Given the description of an element on the screen output the (x, y) to click on. 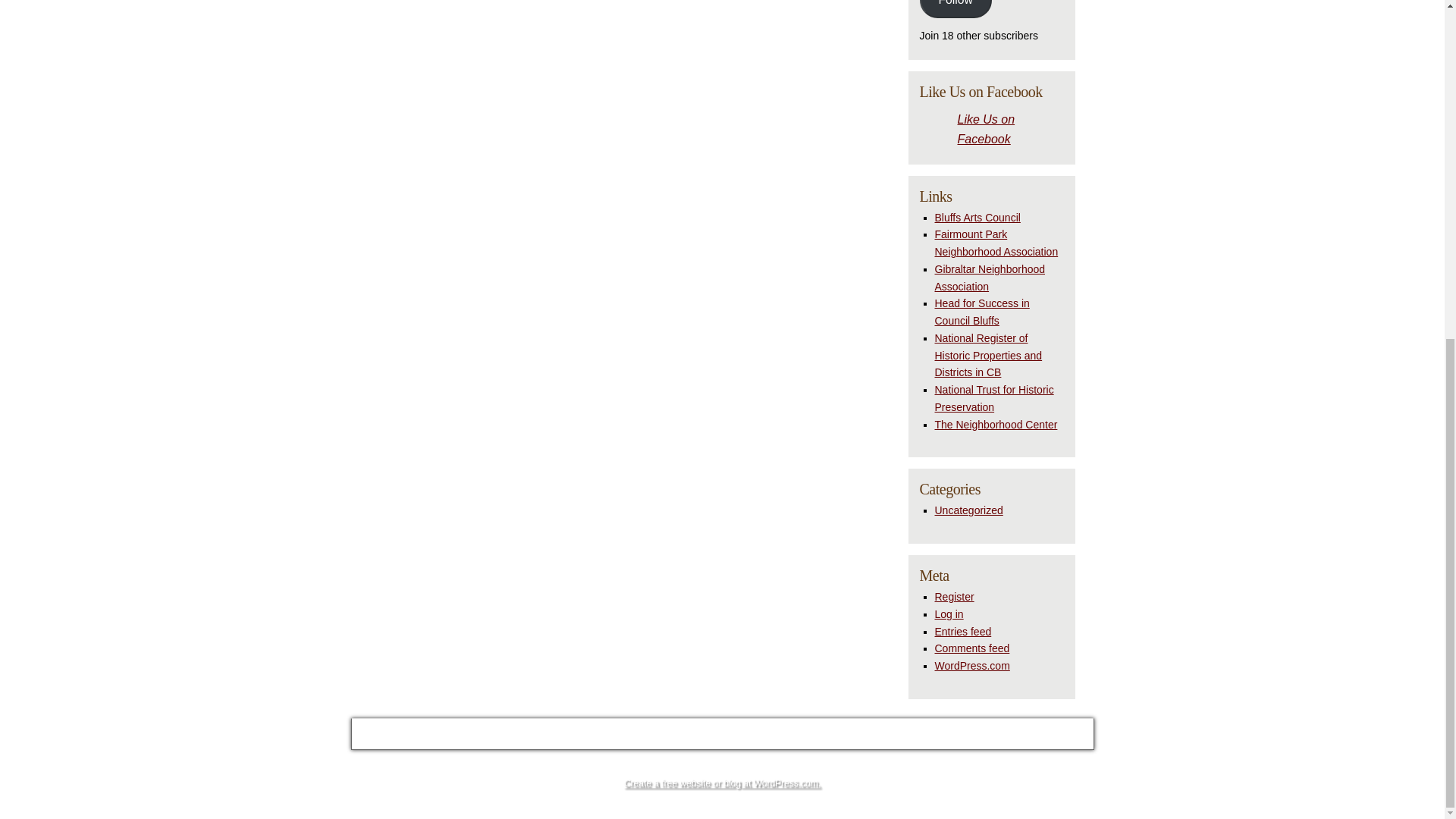
National Register of Historic Properties and Districts in CB (988, 355)
National Trust for Historic Preservation (993, 398)
Uncategorized (968, 510)
Bluffs Arts Council (977, 216)
Like Us on Facebook (985, 128)
Log in (948, 613)
Fairmount Park Neighborhood Association (996, 242)
The Neighborhood Center (995, 424)
Create a free website or blog at WordPress.com. (722, 783)
